Given the description of an element on the screen output the (x, y) to click on. 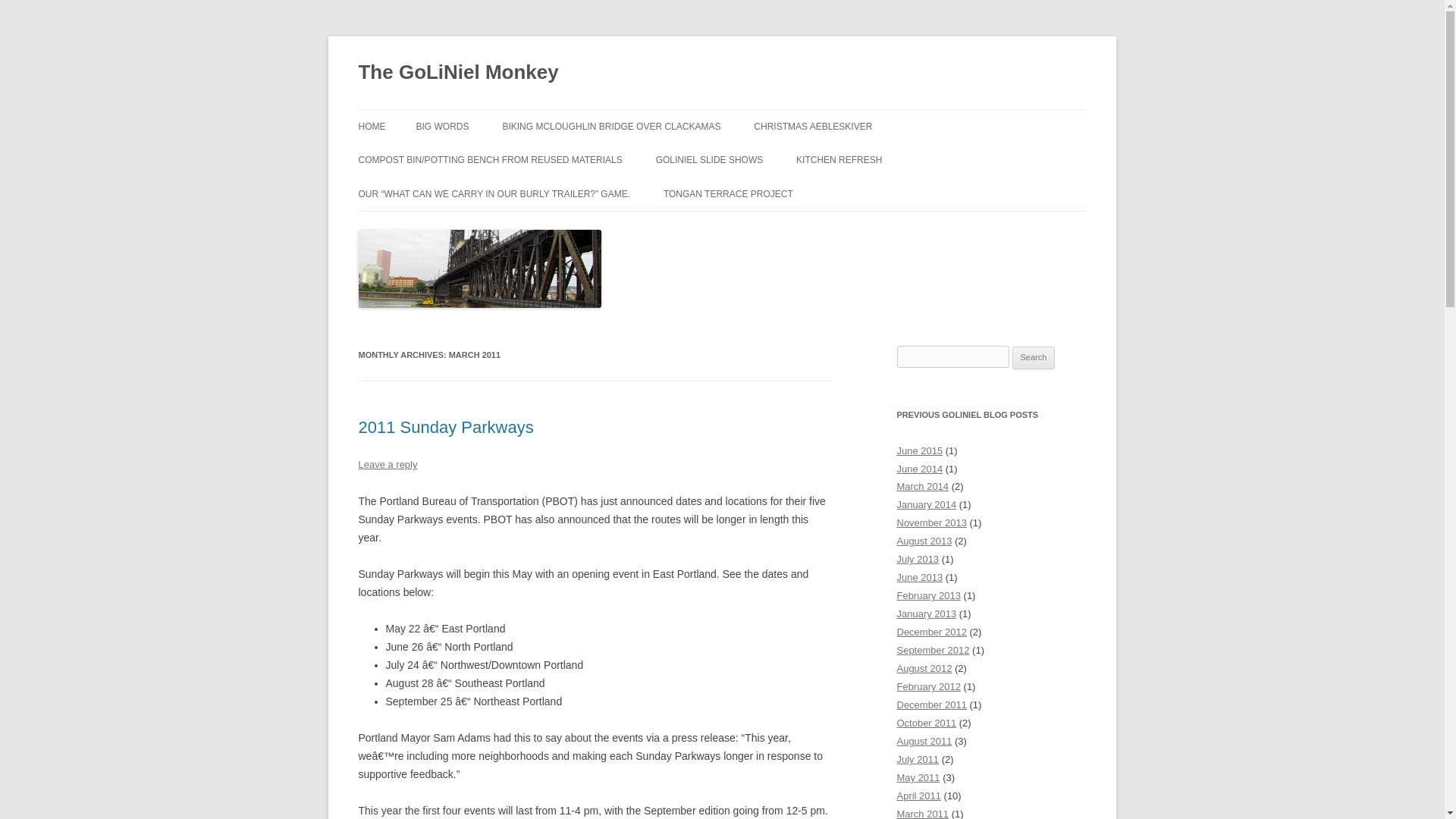
The GoLiNiel Monkey (457, 72)
Search (1033, 357)
July 2011 (917, 758)
August 2011 (924, 740)
BIKING MCLOUGHLIN BRIDGE OVER CLACKAMAS (611, 126)
Skip to content (757, 113)
October 2011 (926, 722)
Search (1033, 357)
June 2014 (919, 468)
November 2013 (931, 522)
